Given the description of an element on the screen output the (x, y) to click on. 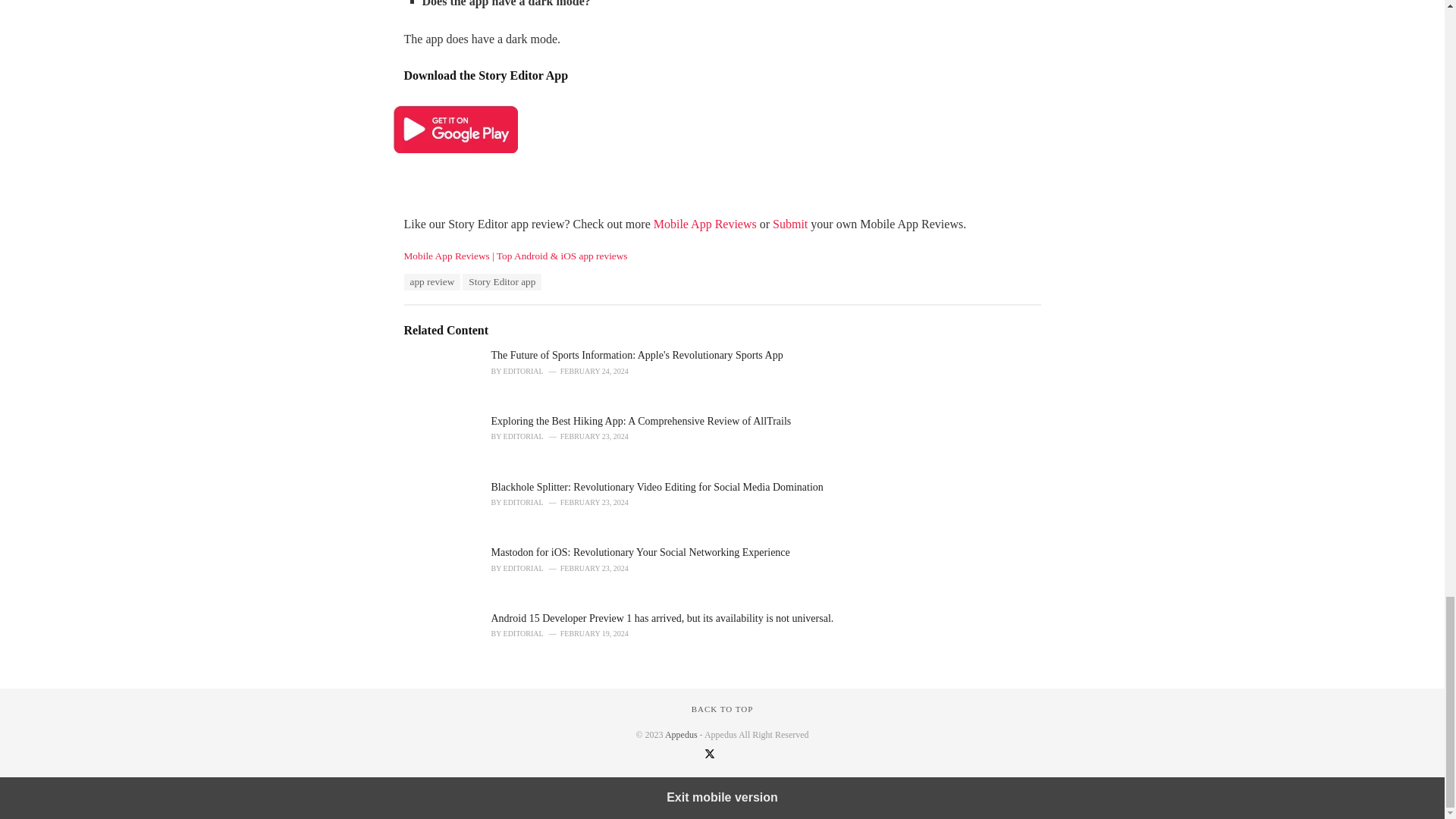
BACK TO TOP (722, 708)
Mobile App Reviews (705, 223)
Submit (790, 223)
app review (431, 281)
Appedus All Right Reserved (681, 734)
Appedus (681, 734)
Story Editor app (502, 281)
